Given the description of an element on the screen output the (x, y) to click on. 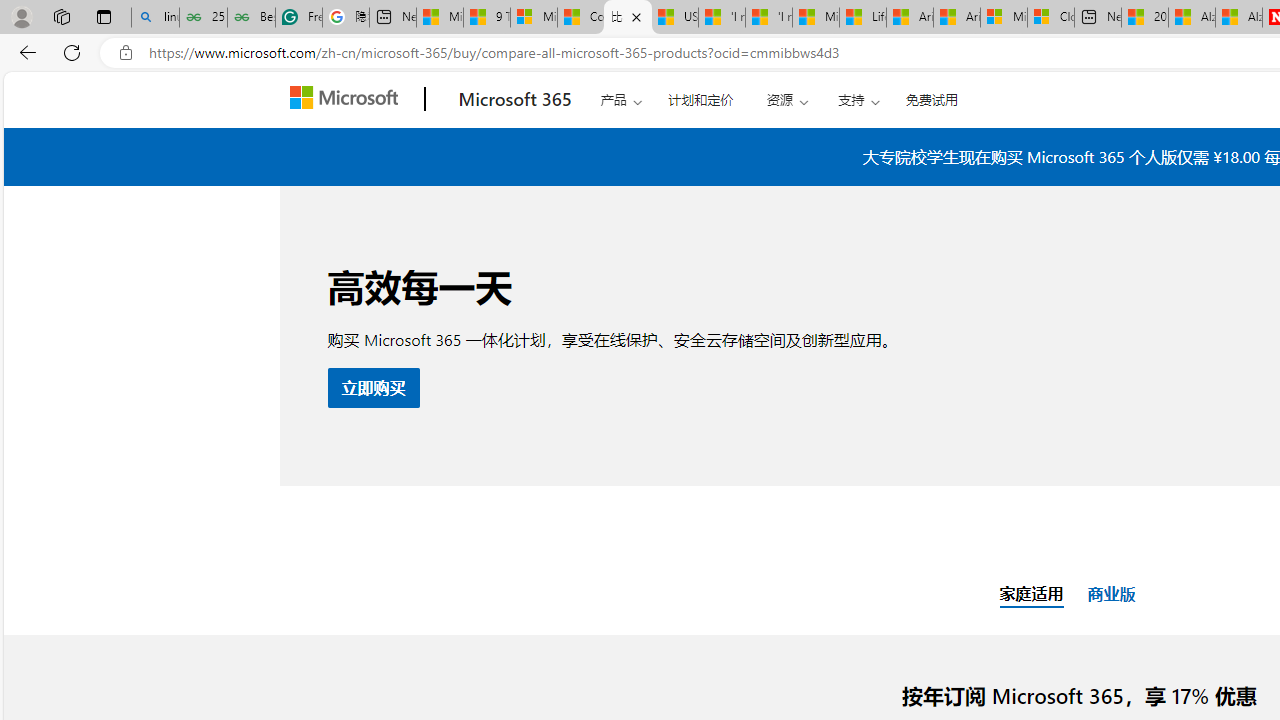
20 Ways to Boost Your Protein Intake at Every Meal (1145, 17)
USA TODAY - MSN (674, 17)
